Given the description of an element on the screen output the (x, y) to click on. 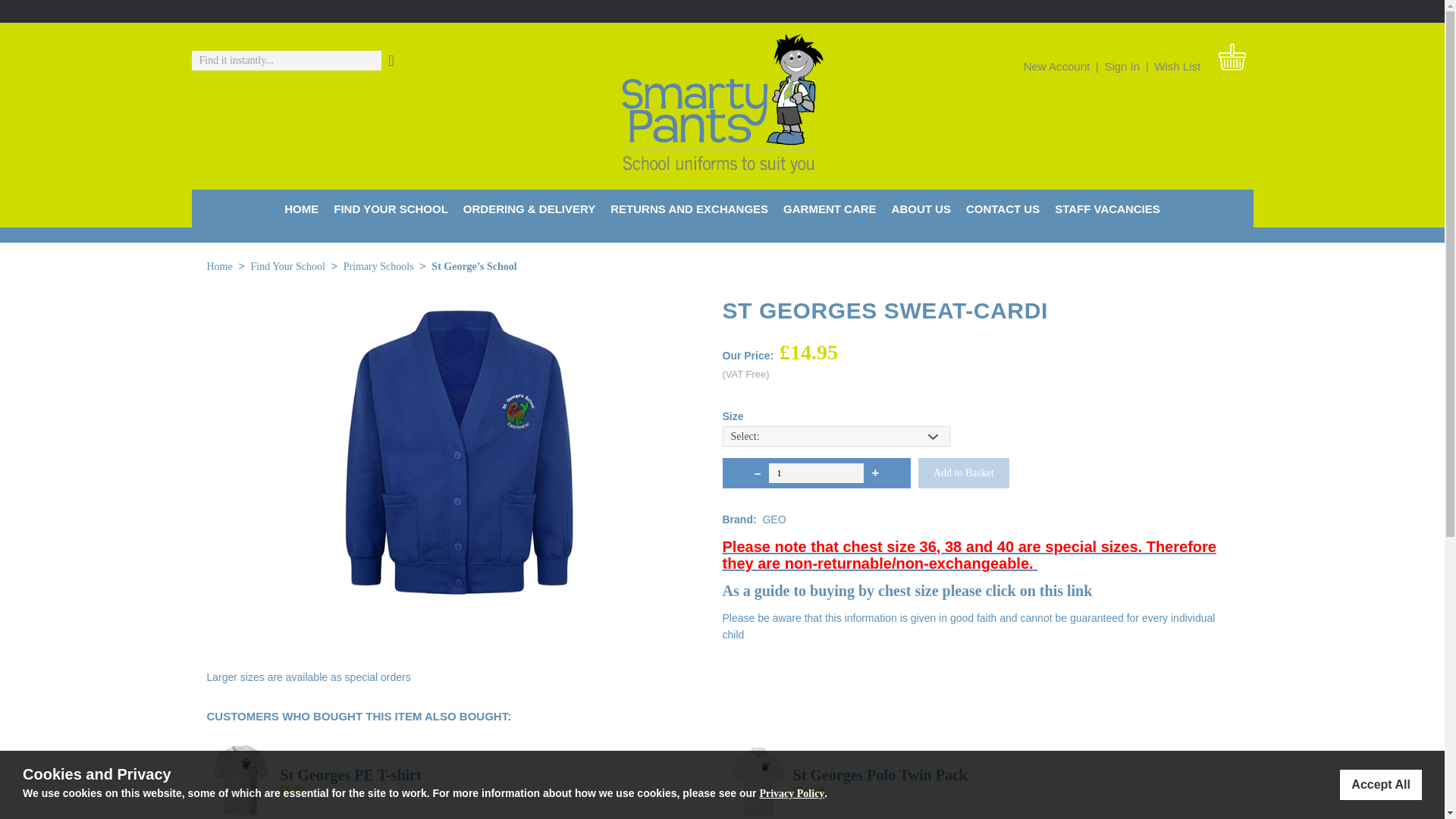
Primary Schools (378, 266)
HOME (300, 207)
FIND YOUR SCHOOL (390, 207)
As a guide to buying by chest size please click on this link (907, 590)
1 (815, 473)
GARMENT CARE (829, 207)
Add to Basket (963, 472)
CONTACT US (1002, 207)
St Georges Polo Twin Pack (880, 774)
Wish List (1176, 65)
